Given the description of an element on the screen output the (x, y) to click on. 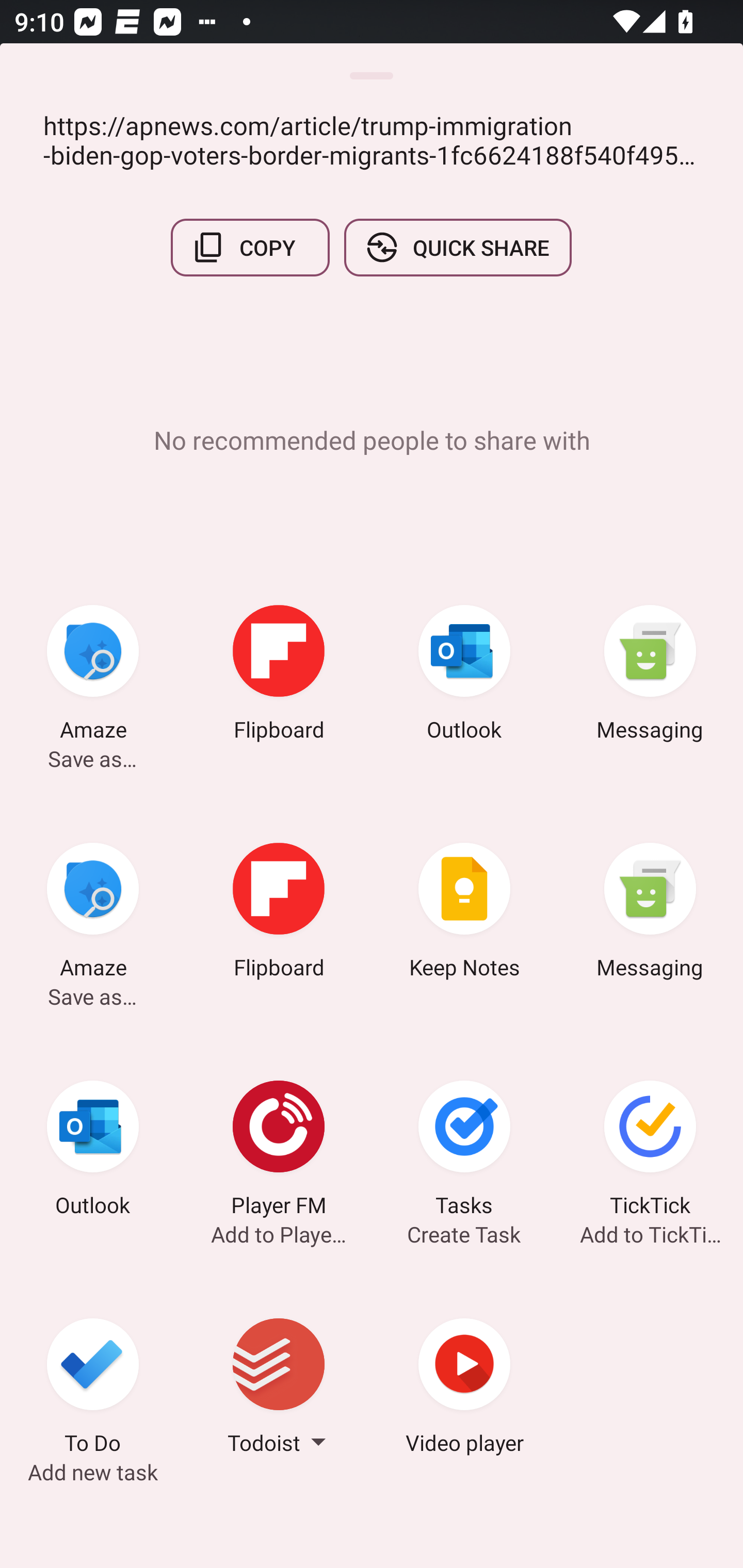
COPY (249, 247)
QUICK SHARE (457, 247)
Amaze Save as… (92, 675)
Flipboard (278, 675)
Outlook (464, 675)
Messaging (650, 675)
Amaze Save as… (92, 913)
Flipboard (278, 913)
Keep Notes (464, 913)
Messaging (650, 913)
Outlook (92, 1151)
Player FM Add to Player FM (278, 1151)
Tasks Create Task (464, 1151)
TickTick Add to TickTick (650, 1151)
To Do Add new task (92, 1389)
Todoist (278, 1389)
Video player (464, 1389)
